Given the description of an element on the screen output the (x, y) to click on. 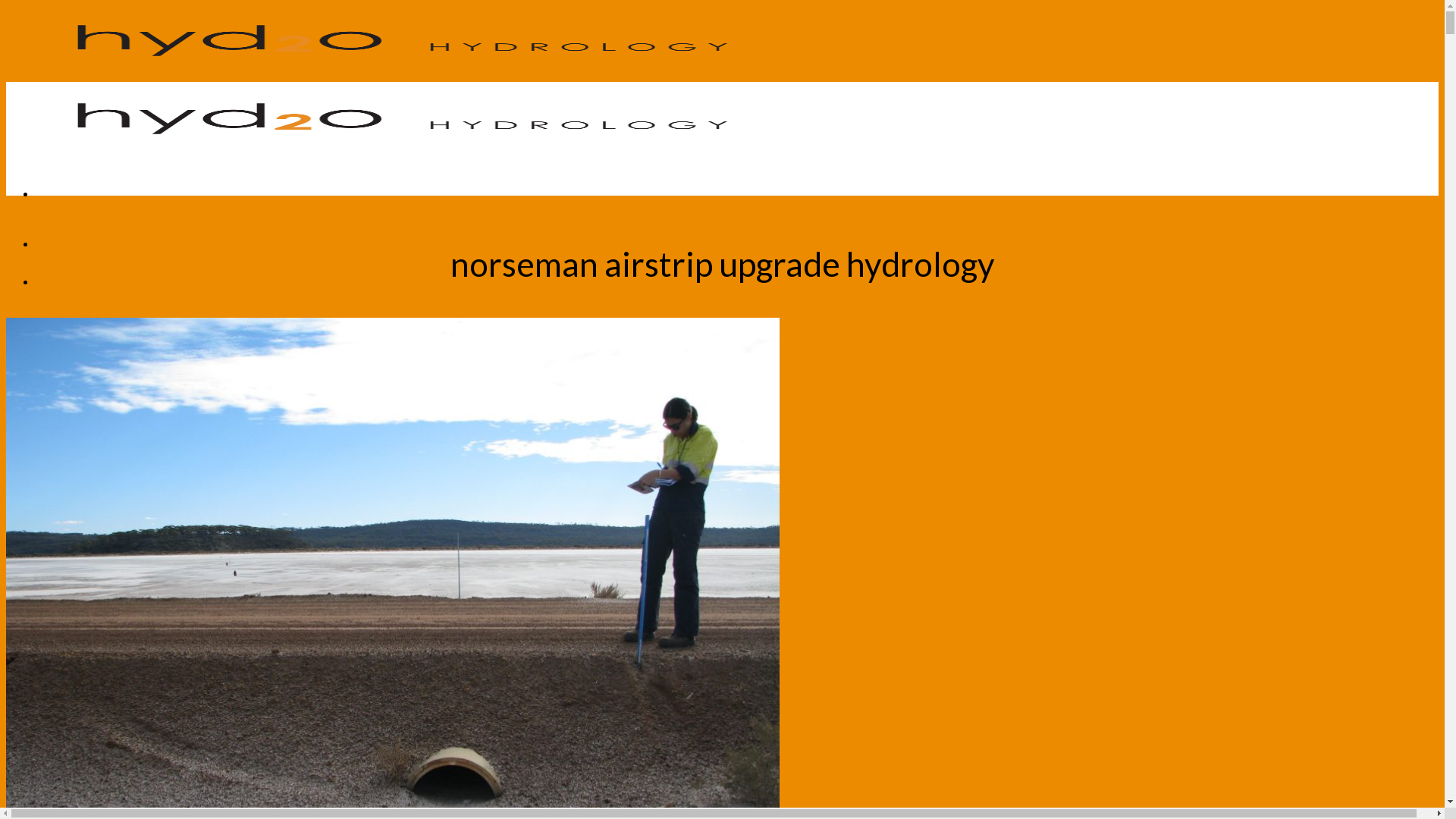
Skip to content Element type: text (5, 5)
Connect Element type: text (60, 356)
Our Work Element type: text (65, 318)
About Element type: text (54, 280)
Home Element type: text (53, 242)
Hyd2o - WE KNOW WATER Element type: hover (392, 115)
